Given the description of an element on the screen output the (x, y) to click on. 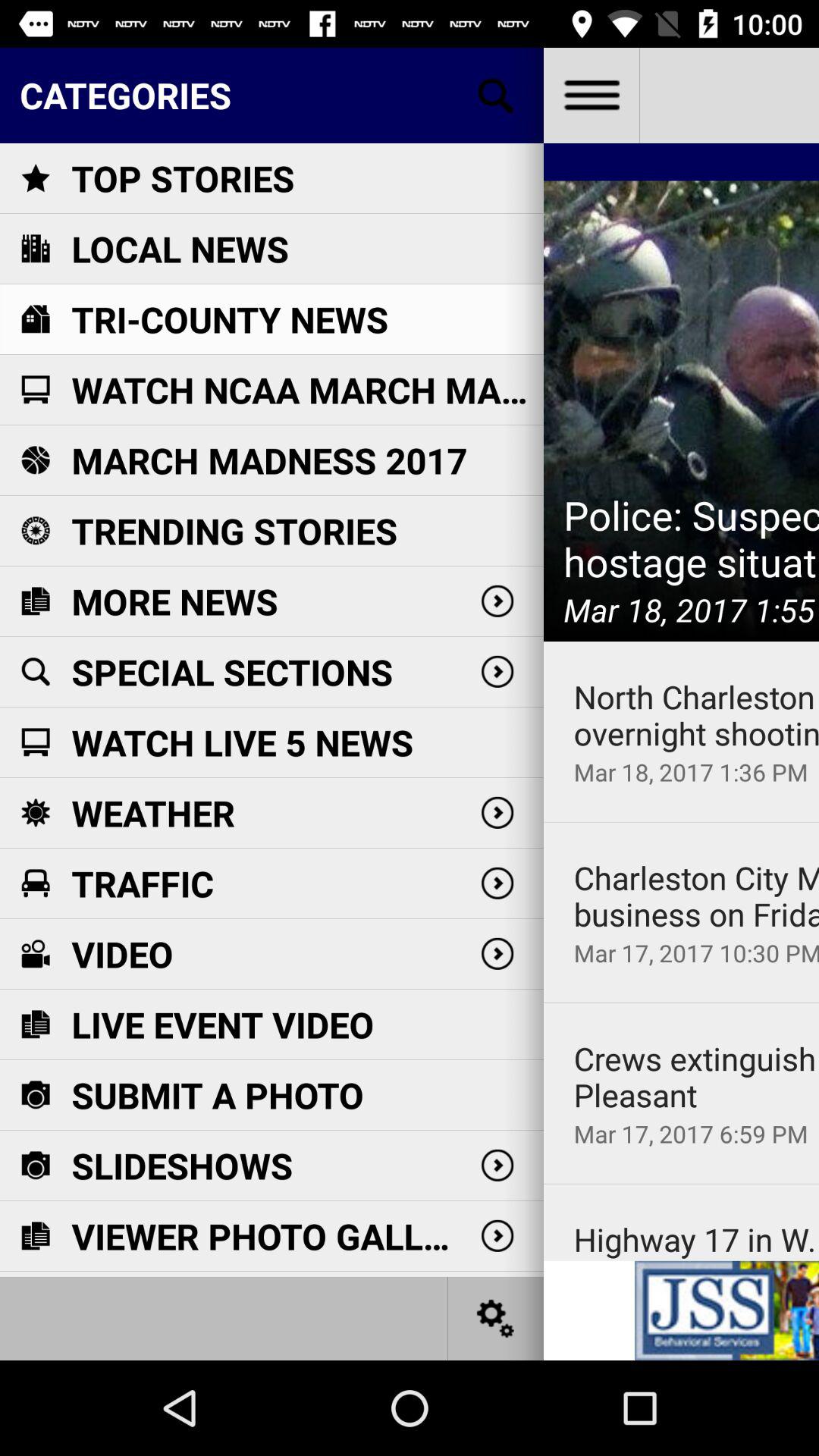
press the icon below submit a photo icon (181, 1165)
